Given the description of an element on the screen output the (x, y) to click on. 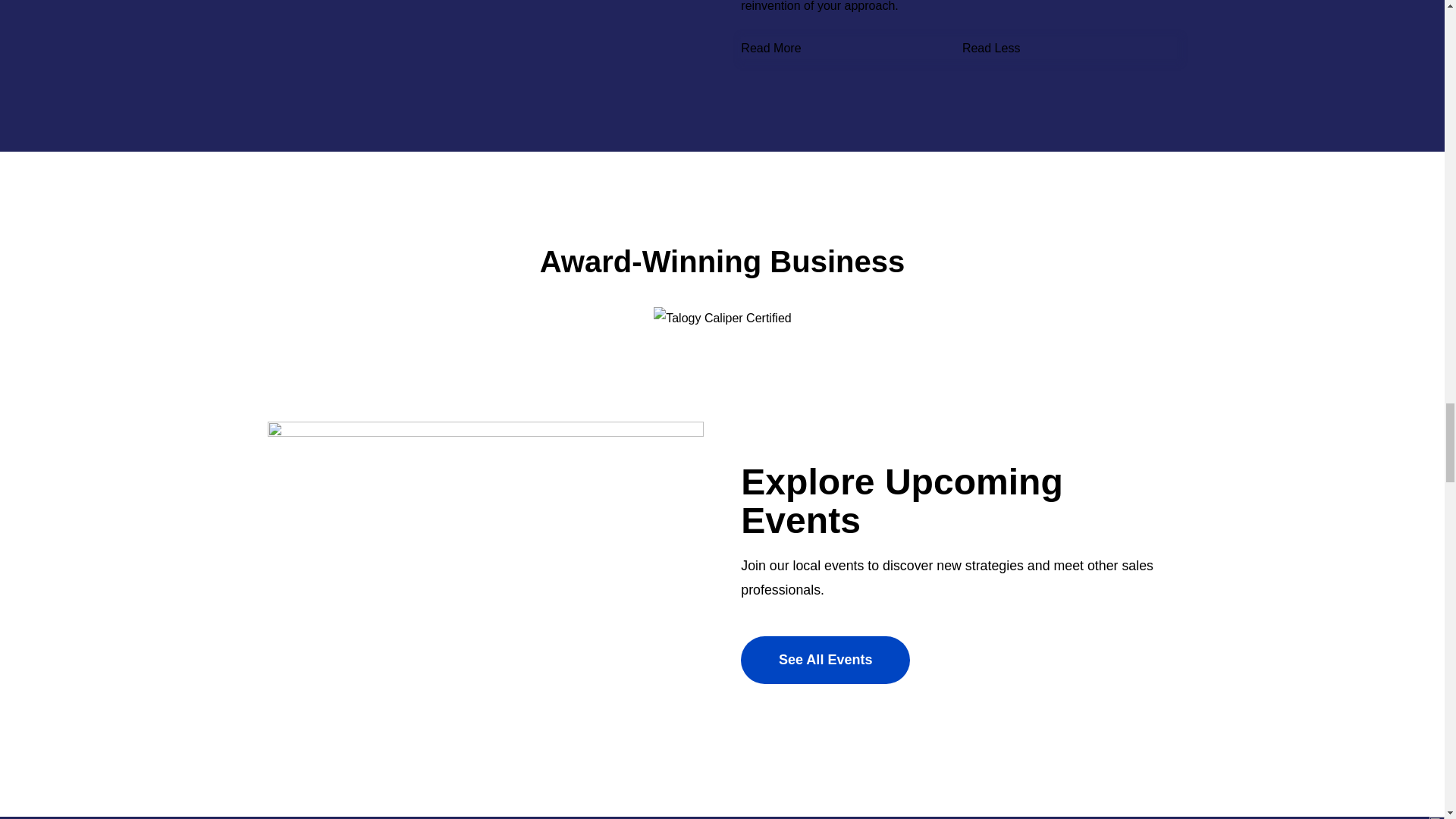
Close (1170, 47)
Talogy Caliper Certified (722, 318)
More (949, 47)
